Given the description of an element on the screen output the (x, y) to click on. 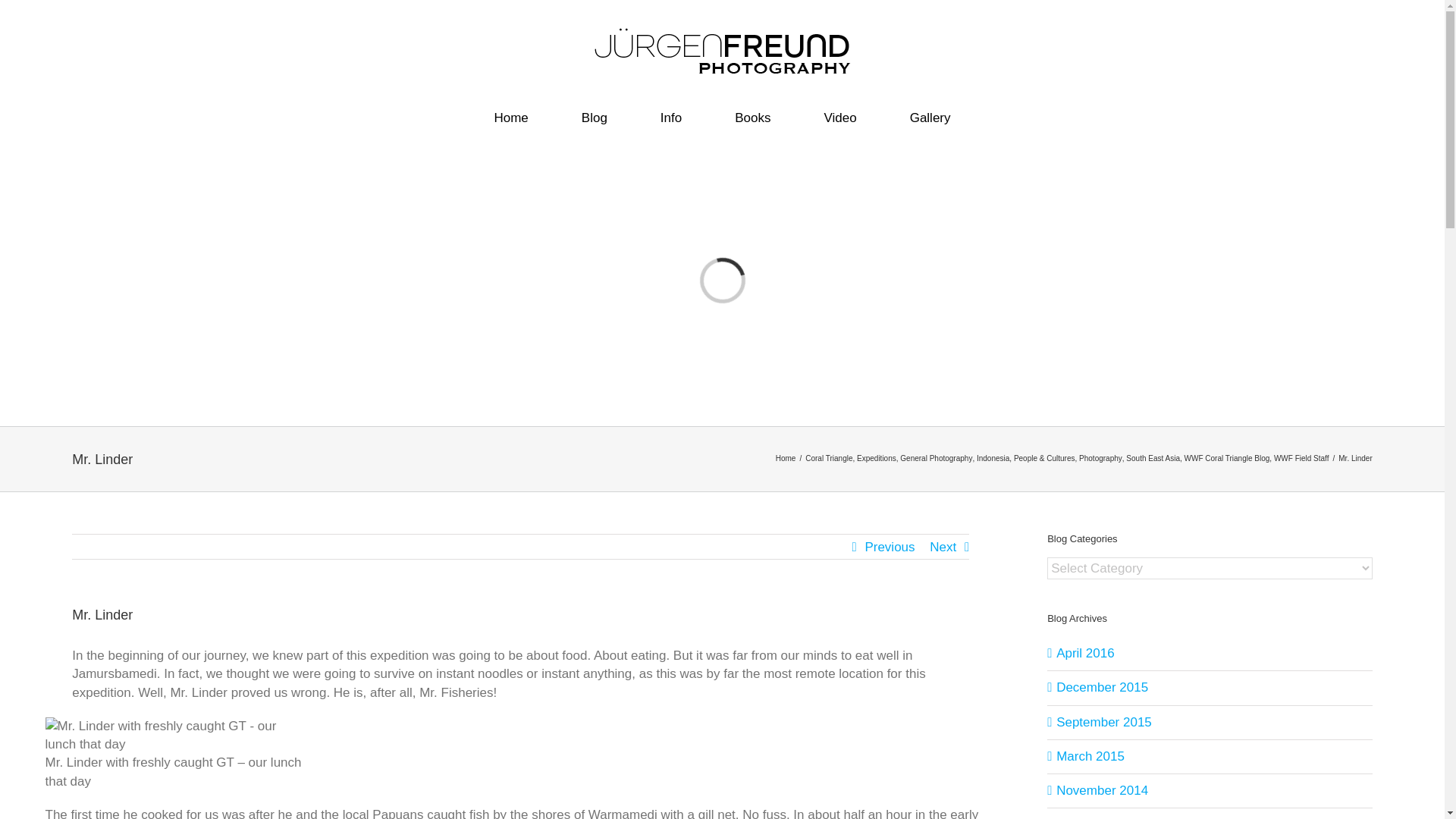
Home (786, 458)
Photography (1100, 458)
Gallery (929, 118)
Info (670, 118)
General Photography (935, 458)
WWF Coral Triangle Blog (1227, 458)
Video (839, 118)
Home (510, 118)
Coral Triangle (828, 458)
Blog (593, 118)
WWF Field Staff (1301, 458)
Expeditions (876, 458)
Indonesia (992, 458)
South East Asia (1152, 458)
Books (751, 118)
